Given the description of an element on the screen output the (x, y) to click on. 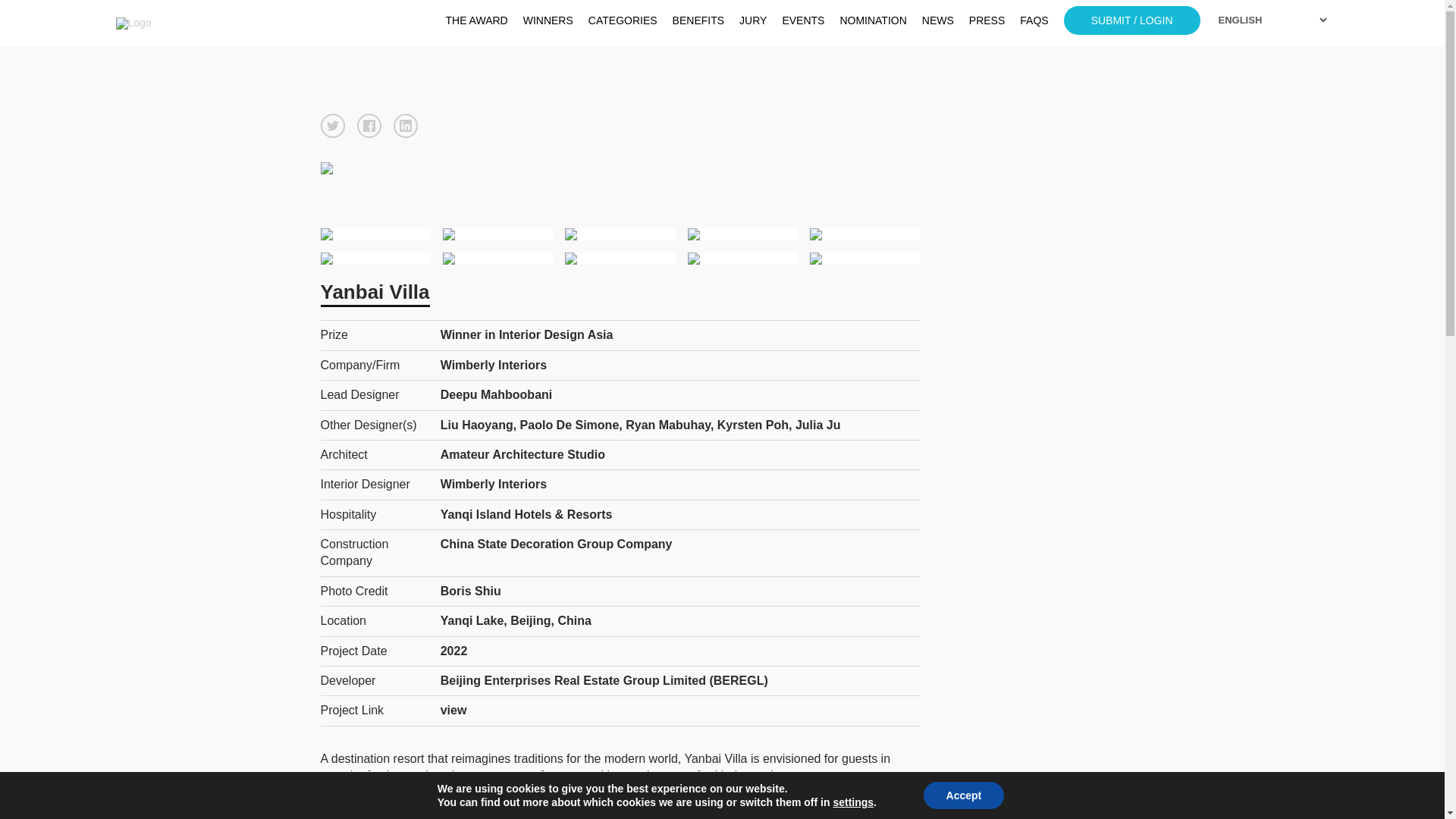
PRESS (986, 20)
CATEGORIES (623, 20)
LIV Hospitality Design Awards (206, 22)
NOMINATION (872, 20)
EVENTS (802, 20)
BENEFITS (697, 20)
WINNERS (547, 20)
NEWS (937, 20)
FAQS (1034, 20)
THE AWARD (476, 20)
view (454, 709)
JURY (753, 20)
